Given the description of an element on the screen output the (x, y) to click on. 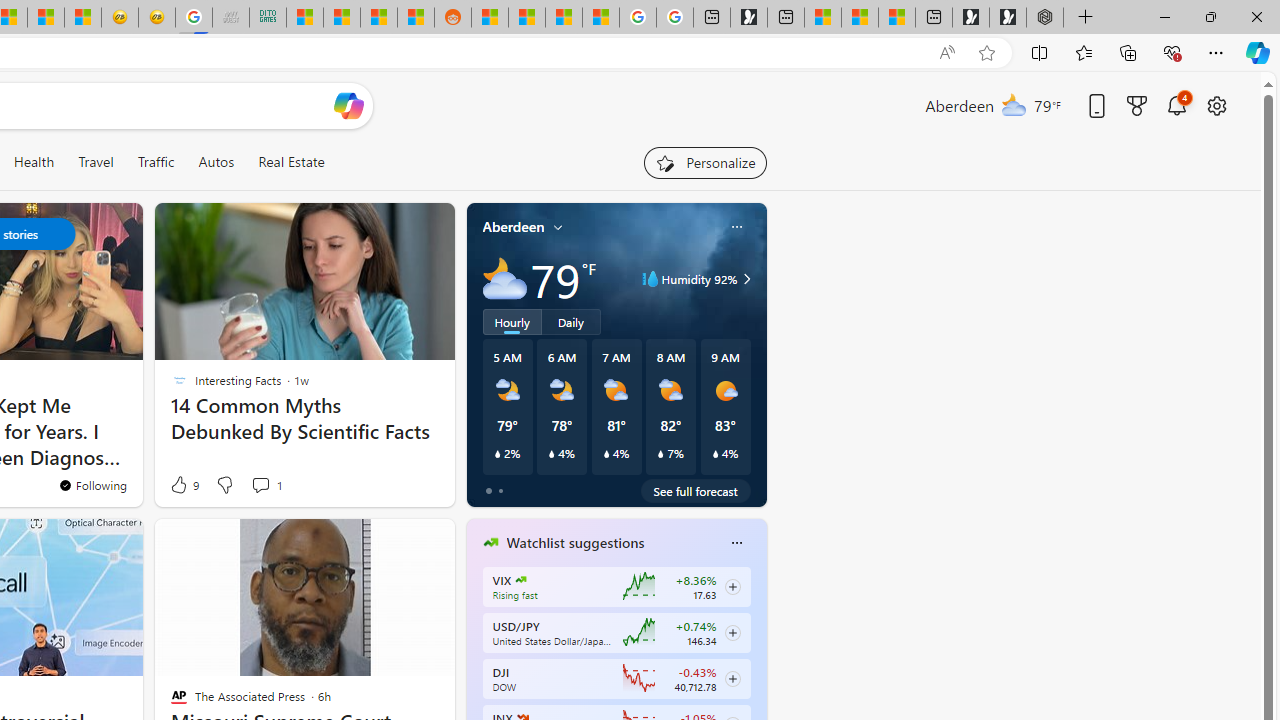
Class: weather-arrow-glyph (746, 278)
9 Like (183, 484)
You're following Newsweek (92, 485)
tab-0 (488, 490)
